Given the description of an element on the screen output the (x, y) to click on. 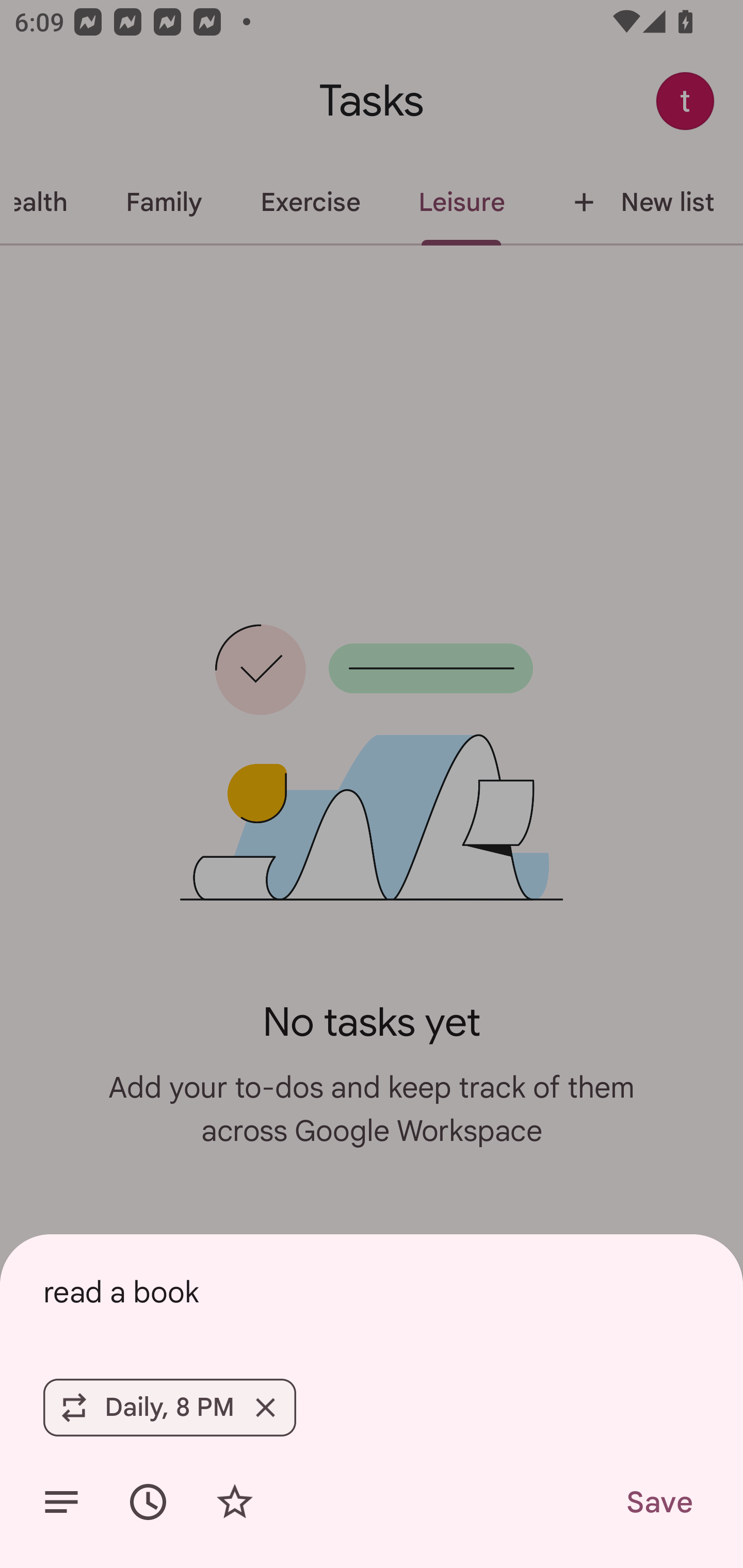
read a book (371, 1291)
Daily, 8 PM Remove Daily, 8 PM (169, 1407)
Save (659, 1501)
Add details (60, 1501)
Set date/time (147, 1501)
Add star (234, 1501)
